Given the description of an element on the screen output the (x, y) to click on. 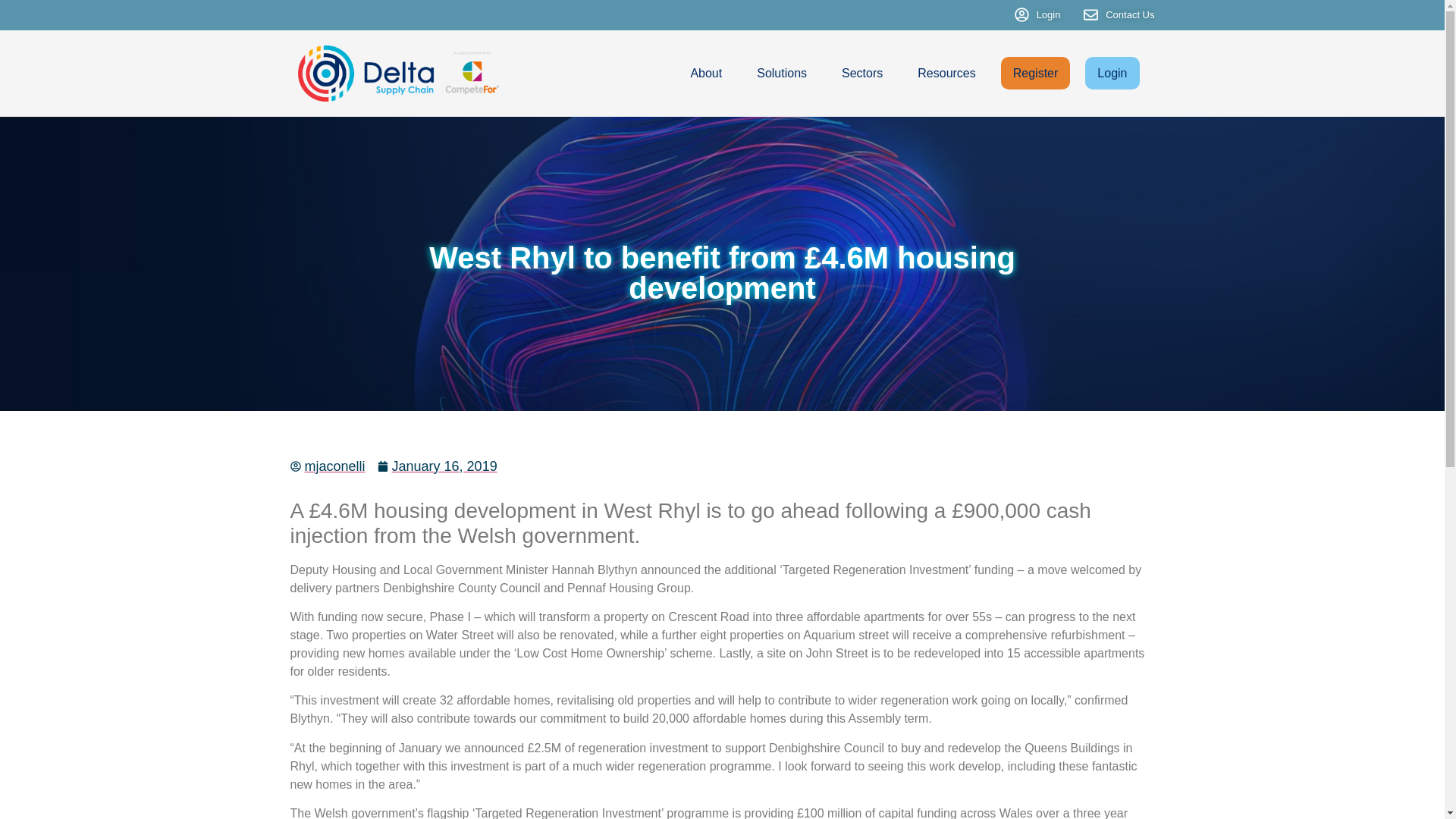
Login (1111, 72)
Login (1037, 14)
Sectors (861, 72)
Contact Us (1118, 14)
About (705, 72)
Register (1035, 72)
Resources (945, 72)
Solutions (781, 72)
